Given the description of an element on the screen output the (x, y) to click on. 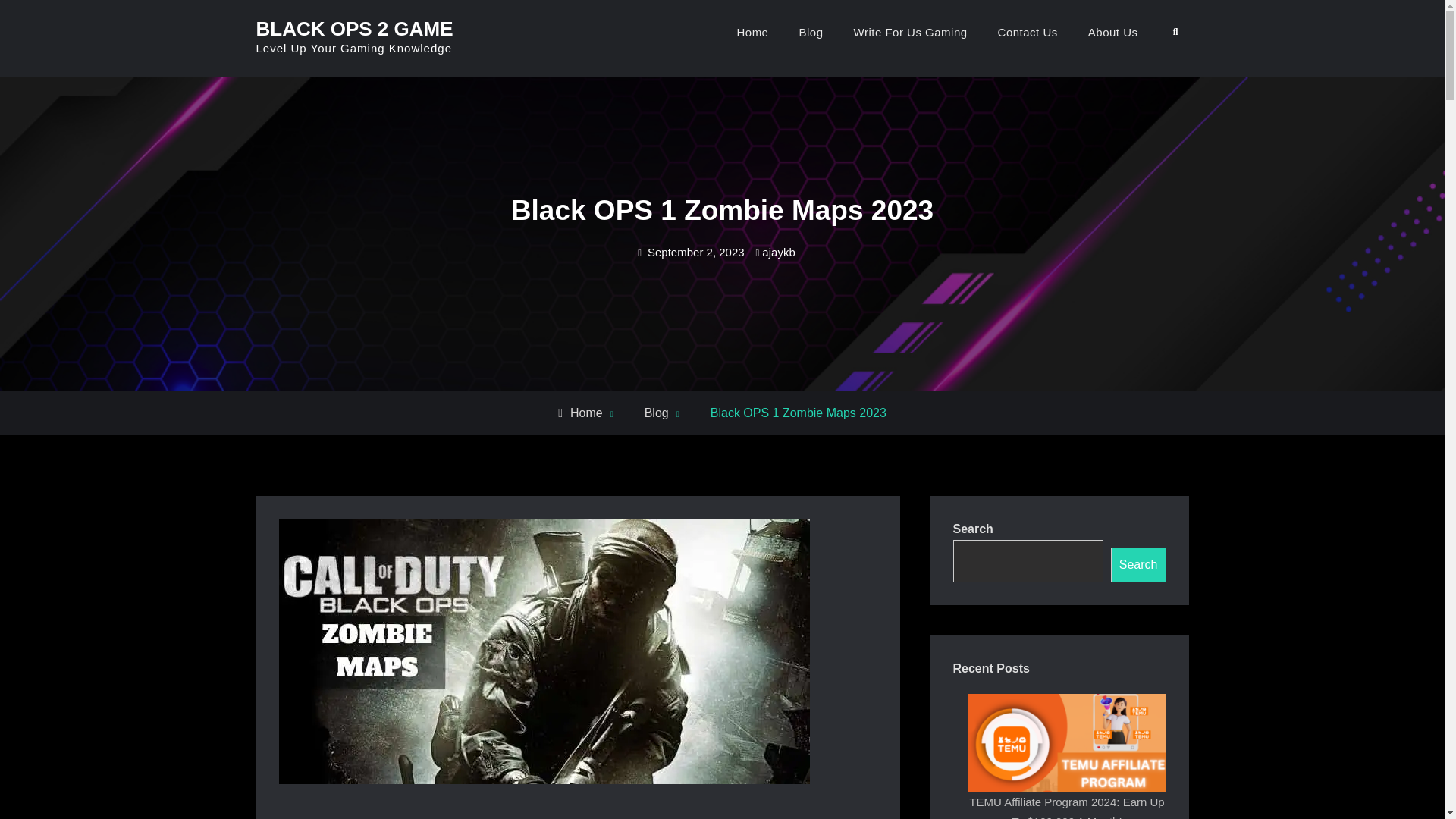
About Us (1113, 31)
September 2, 2023 (695, 251)
Home (579, 412)
BLACK OPS 2 GAME (354, 28)
Write For Us Gaming (910, 31)
Search (1138, 564)
Blog (810, 31)
Blog (656, 412)
Search (1174, 31)
ajaykb (777, 251)
Contact Us (1027, 31)
Home (751, 31)
